Given the description of an element on the screen output the (x, y) to click on. 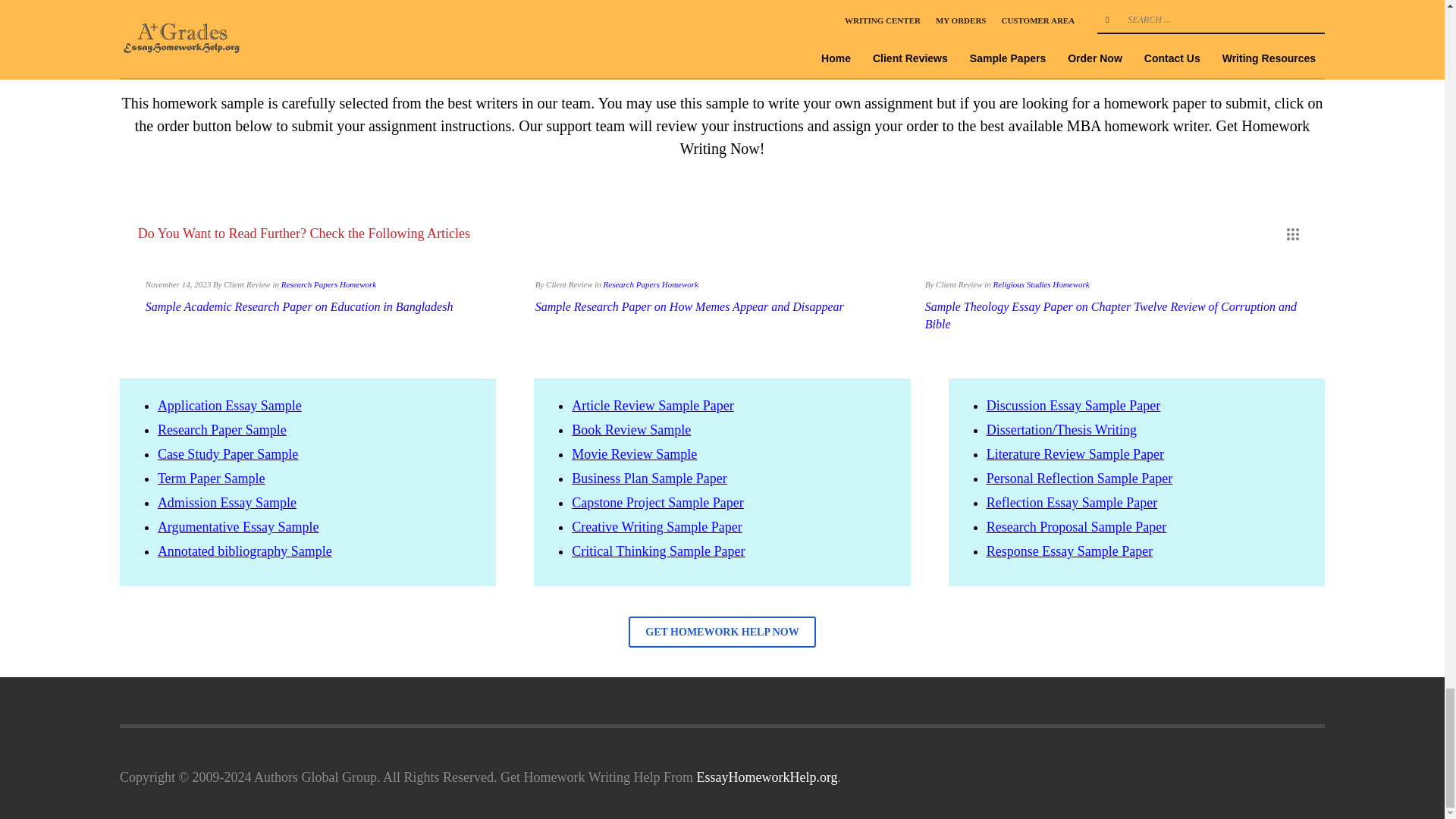
Article Review Sample Paper (652, 405)
Sample Research Paper on How Memes Appear and Disappear (689, 306)
Sample Academic Research Paper on Education in Bangladesh (298, 306)
Movie Review Sample (634, 453)
Application Essay Sample (229, 405)
Research Papers Homework (651, 284)
Case Study Paper Sample (227, 453)
Annotated bibliography Sample (244, 550)
View all posts in Research Papers Homework (651, 284)
Religious Studies Homework (1040, 284)
Term Paper Sample (210, 478)
View all posts in Research Papers Homework (328, 284)
View all posts in Religious Studies Homework (1040, 284)
Research Paper Sample (221, 429)
Book Review Sample (631, 429)
